Given the description of an element on the screen output the (x, y) to click on. 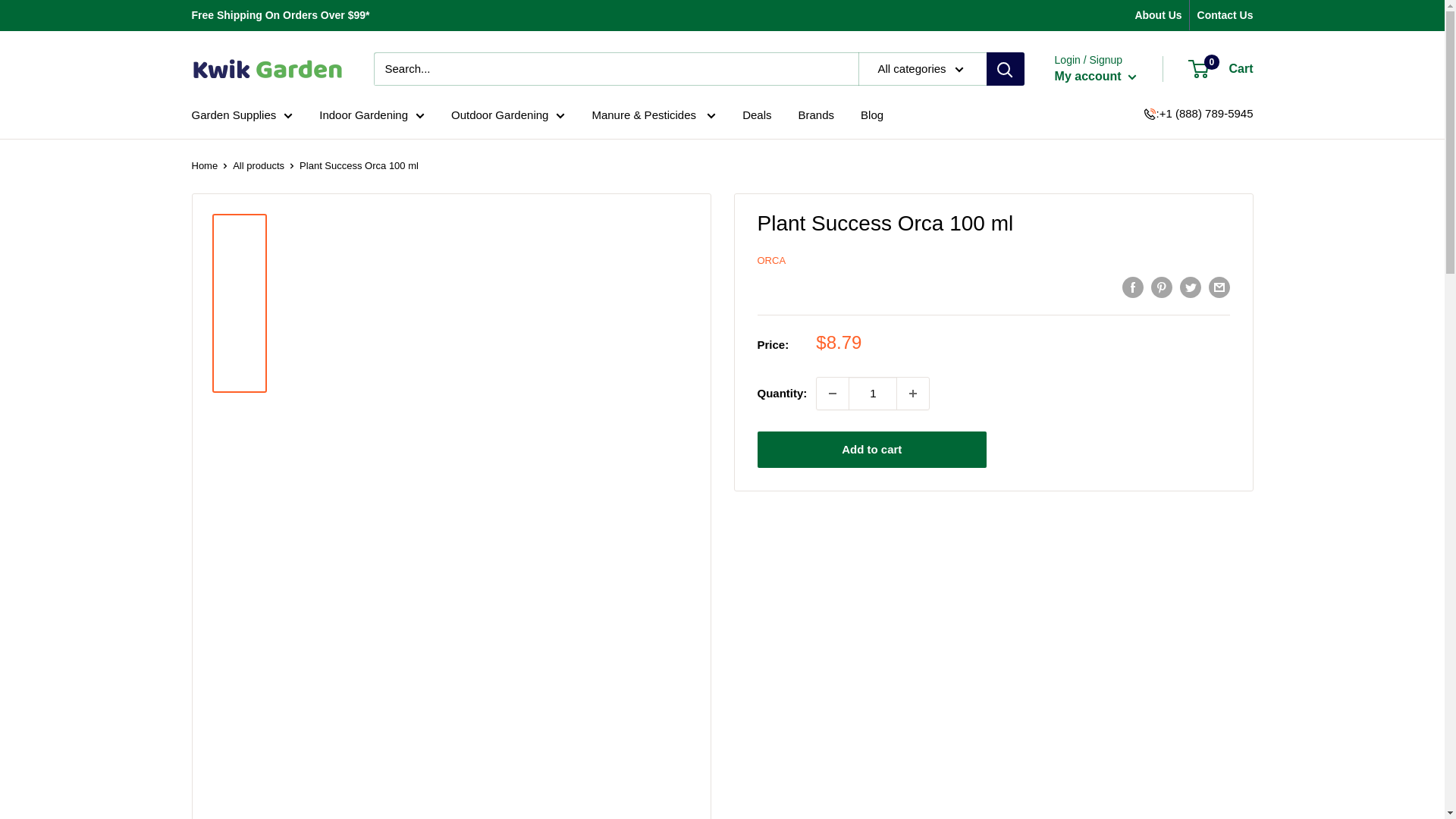
Increase quantity by 1 (912, 393)
Contact Us (1224, 15)
About Us (1157, 15)
Decrease quantity by 1 (832, 393)
1 (872, 393)
